Given the description of an element on the screen output the (x, y) to click on. 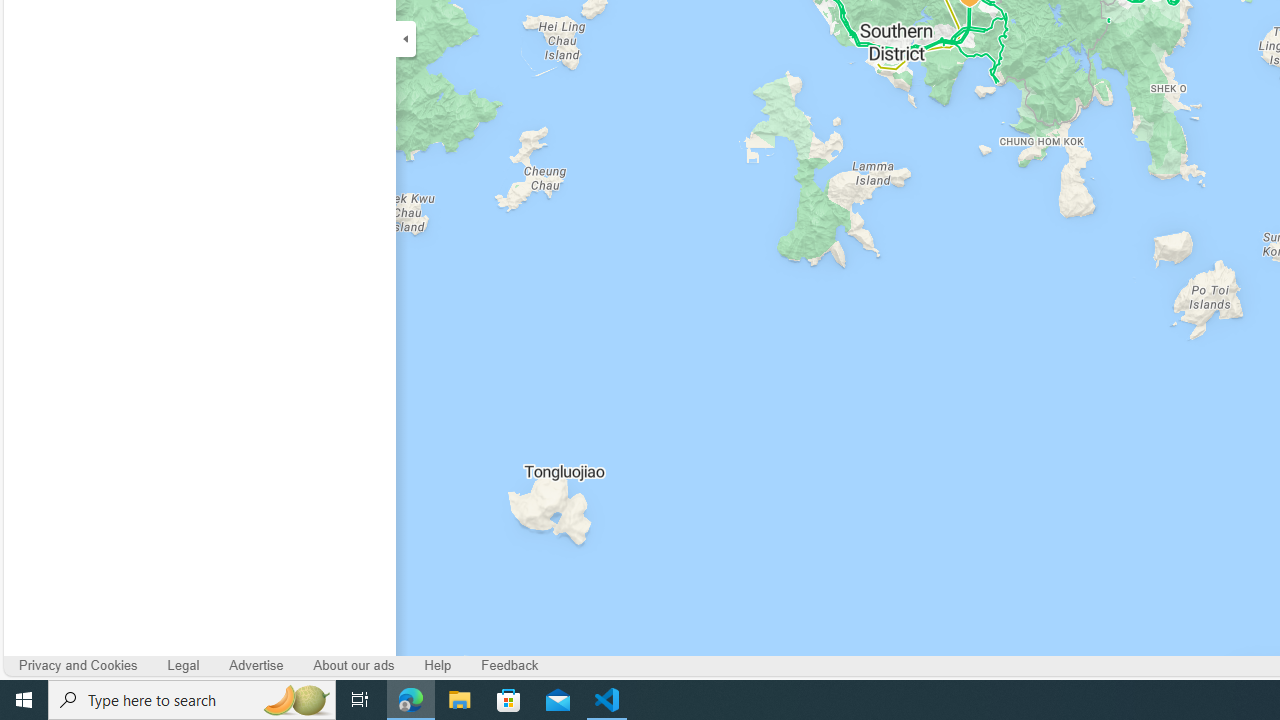
Feedback (509, 665)
Advertise (256, 665)
Feedback (509, 665)
Expand/Collapse Cards (405, 38)
Help (438, 665)
About our ads (353, 665)
About our ads (354, 665)
Legal (182, 665)
Advertise (256, 665)
Legal (183, 665)
Privacy and Cookies (78, 665)
Help (437, 665)
Privacy and Cookies (78, 665)
